Given the description of an element on the screen output the (x, y) to click on. 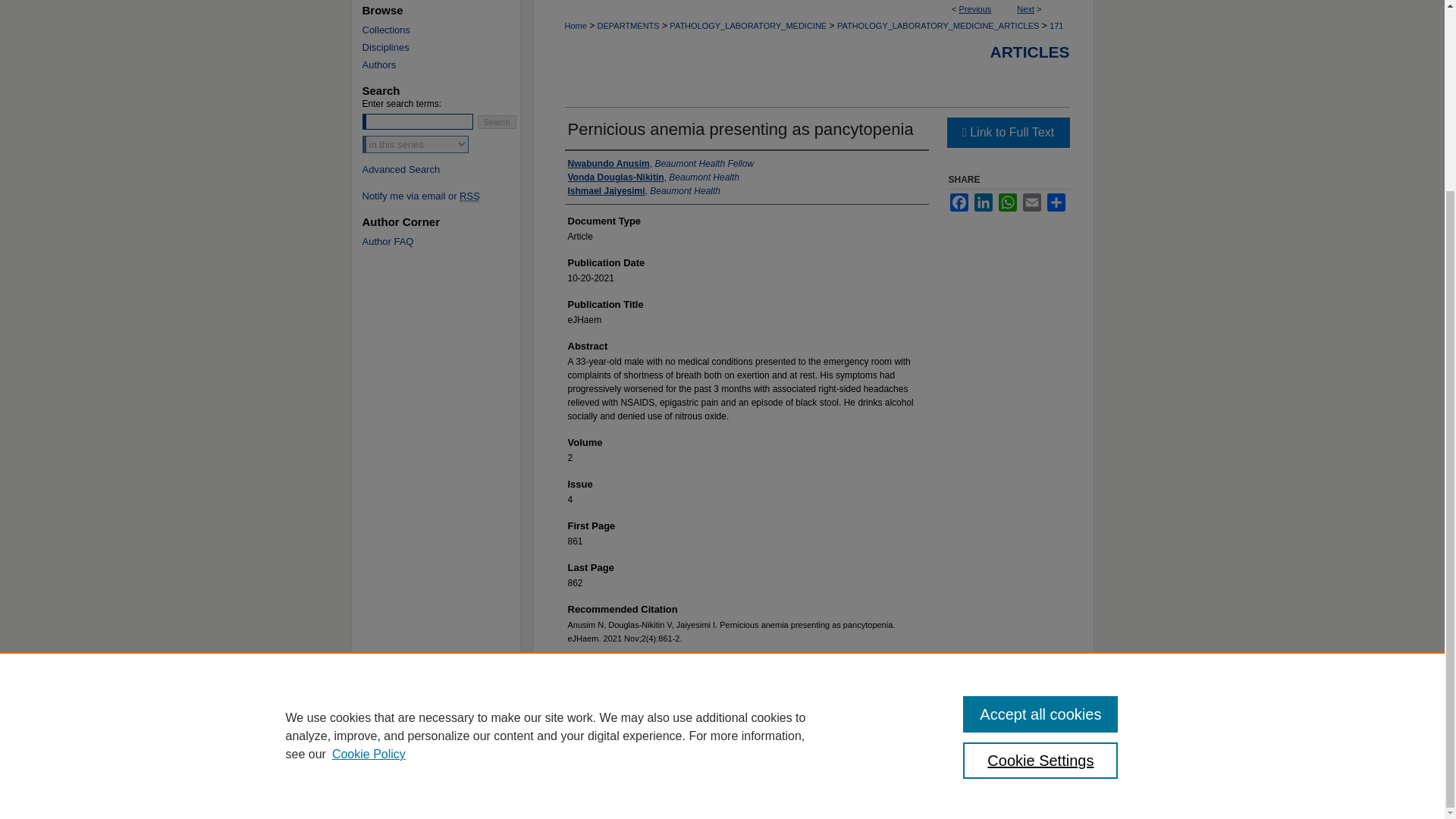
Author FAQ (447, 241)
Nwabundo Anusim, Beaumont Health Fellow (660, 163)
ARTICLES (1030, 51)
171 (1055, 25)
WhatsApp (1006, 202)
Search (496, 121)
Authors (447, 64)
Advanced Search (401, 169)
Search (496, 121)
Collections (447, 30)
Really Simple Syndication (470, 196)
Facebook (958, 202)
Previous (975, 8)
Email (1031, 202)
Home (575, 25)
